Given the description of an element on the screen output the (x, y) to click on. 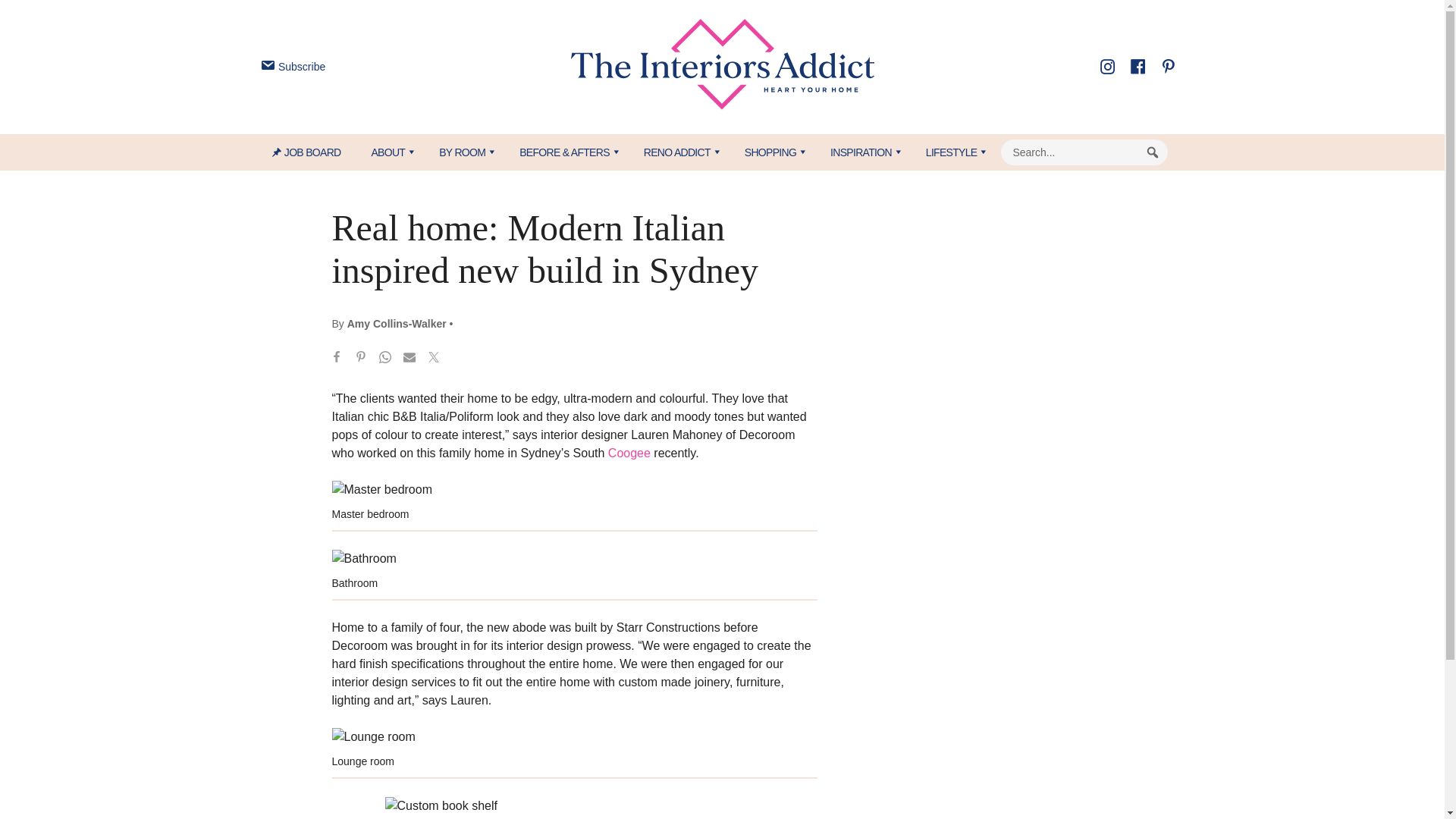
JOB BOARD (313, 152)
Share on Twitter (433, 359)
ABOUT (389, 152)
BY ROOM (463, 152)
YES PLEASE! (793, 294)
Share on Facebook (336, 359)
Subscribe (291, 66)
Search (1152, 151)
Share via Email (409, 359)
